Given the description of an element on the screen output the (x, y) to click on. 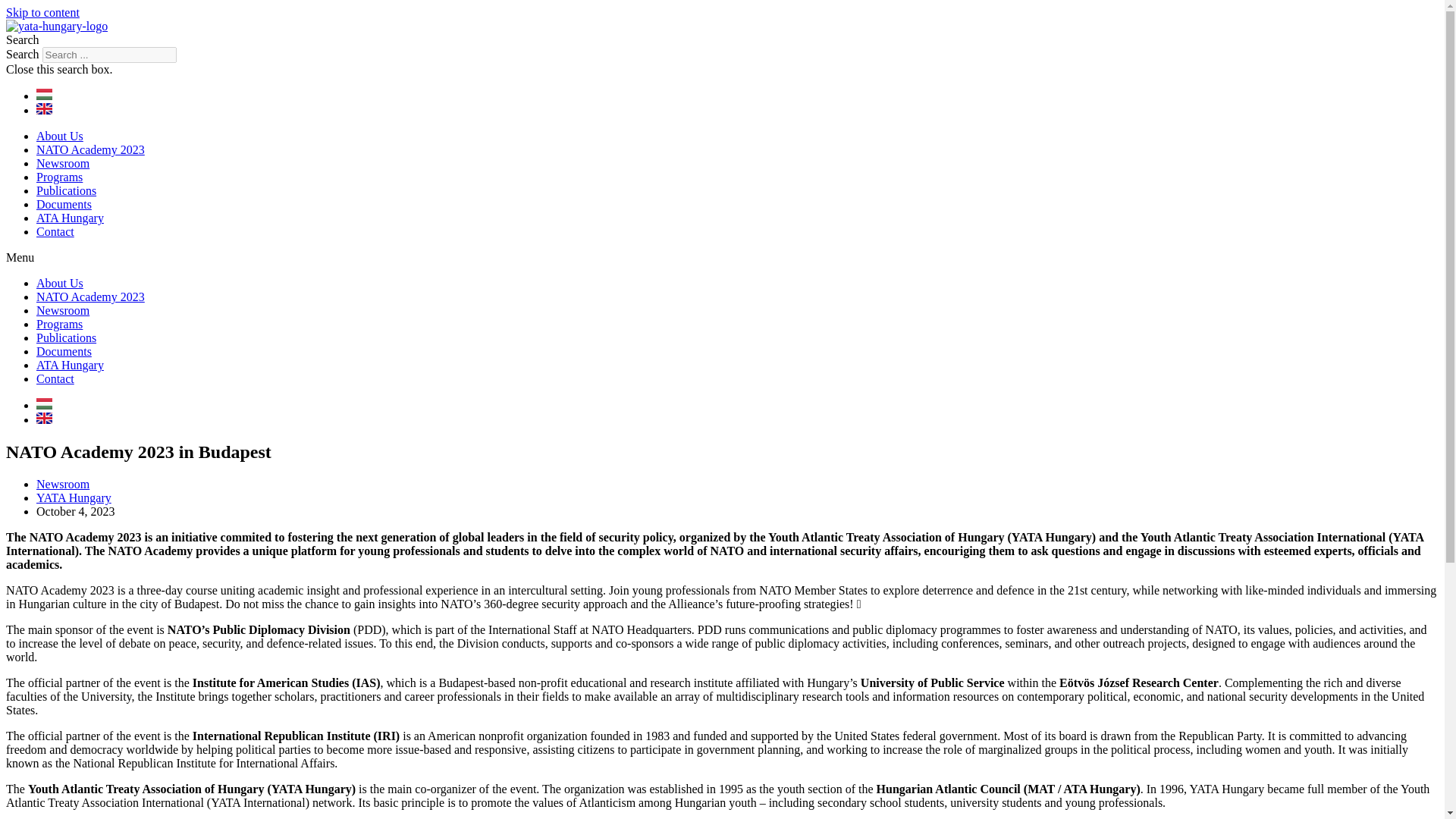
Newsroom (62, 483)
ATA Hungary (69, 217)
Newsroom (62, 309)
About Us (59, 282)
Programs (59, 323)
Contact (55, 231)
Documents (63, 350)
About Us (59, 135)
YATA Hungary (74, 497)
Newsroom (62, 163)
